Given the description of an element on the screen output the (x, y) to click on. 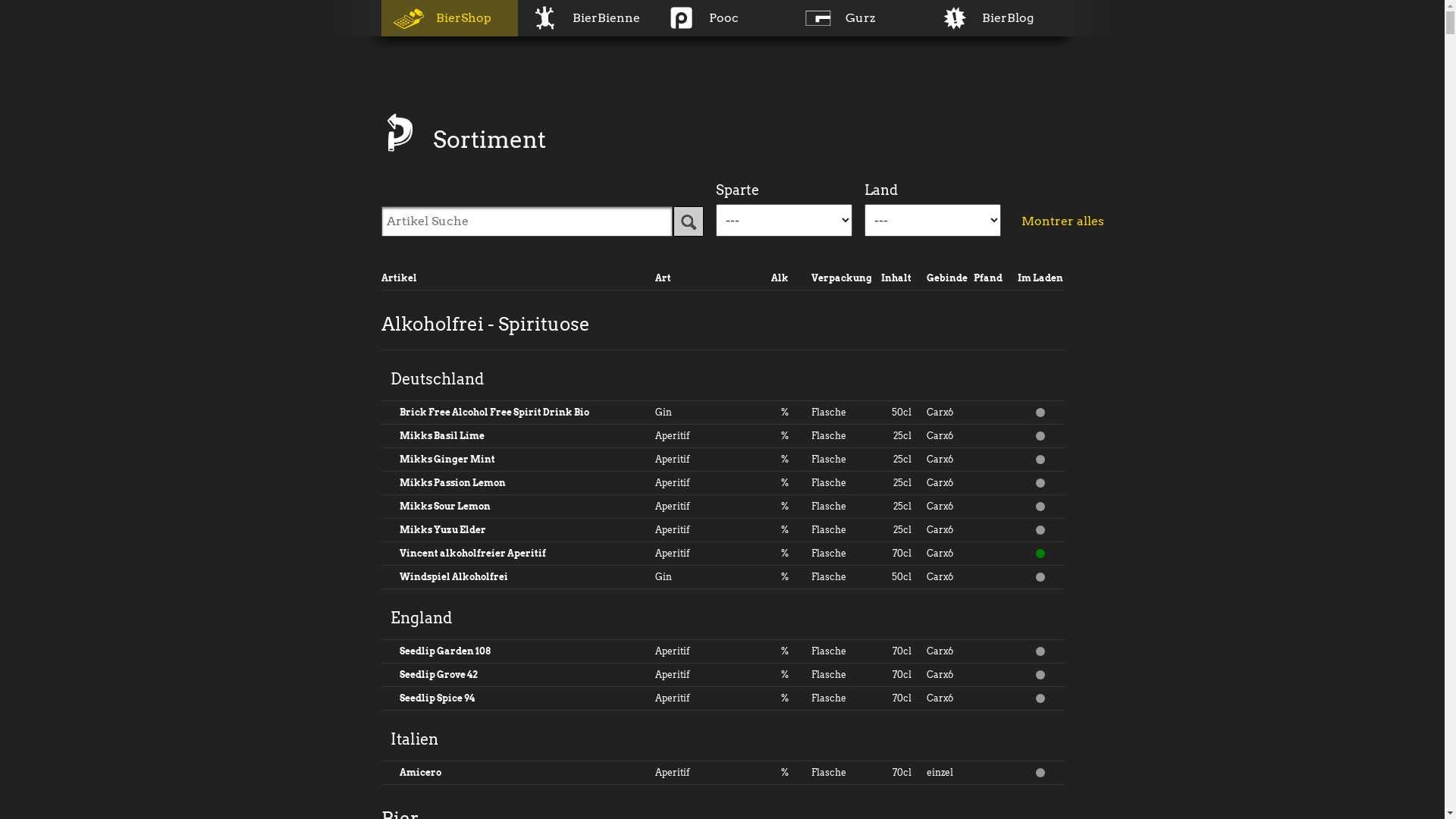
BierShop Element type: text (448, 18)
BierBlog Element type: text (994, 18)
Suchen Element type: text (688, 221)
Pooc Element type: text (721, 18)
BierBienne Element type: text (585, 18)
Gurz Element type: text (858, 18)
